Given the description of an element on the screen output the (x, y) to click on. 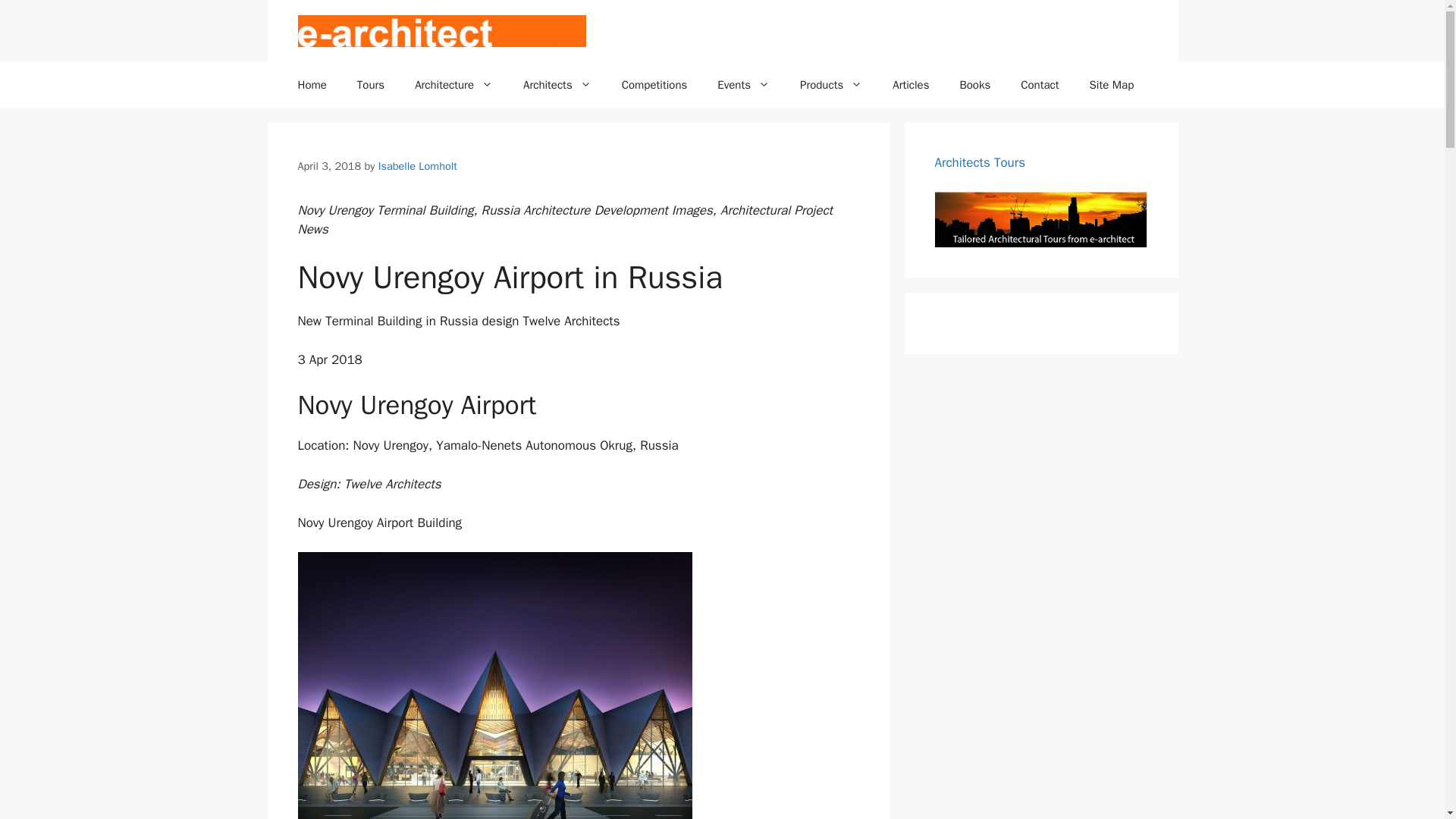
Tours (370, 84)
View all posts by Isabelle Lomholt (417, 165)
Articles (910, 84)
Architects (557, 84)
Books (974, 84)
Home (311, 84)
Events (742, 84)
Isabelle Lomholt (417, 165)
Site Map (1112, 84)
Contact (1040, 84)
Products (830, 84)
Architecture (453, 84)
Competitions (655, 84)
Home (311, 84)
